Given the description of an element on the screen output the (x, y) to click on. 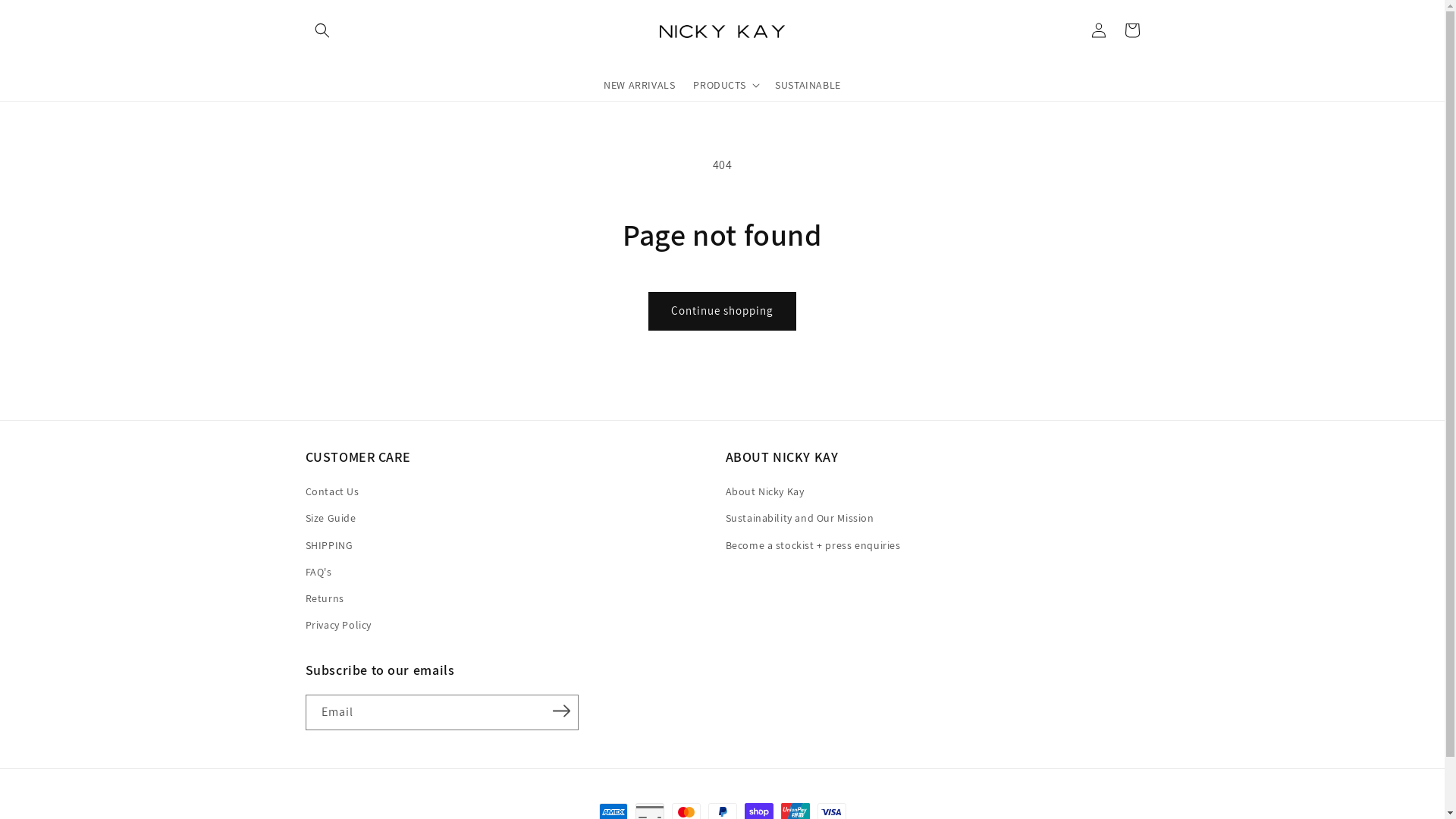
Continue shopping Element type: text (722, 310)
FAQ's Element type: text (317, 571)
NEW ARRIVALS Element type: text (639, 84)
SHIPPING Element type: text (328, 545)
About Nicky Kay Element type: text (763, 493)
Log in Element type: text (1097, 30)
Become a stockist + press enquiries Element type: text (812, 545)
Returns Element type: text (323, 598)
Privacy Policy Element type: text (337, 624)
Cart Element type: text (1131, 30)
Size Guide Element type: text (329, 518)
Contact Us Element type: text (331, 493)
Sustainability and Our Mission Element type: text (798, 518)
SUSTAINABLE Element type: text (807, 84)
